Given the description of an element on the screen output the (x, y) to click on. 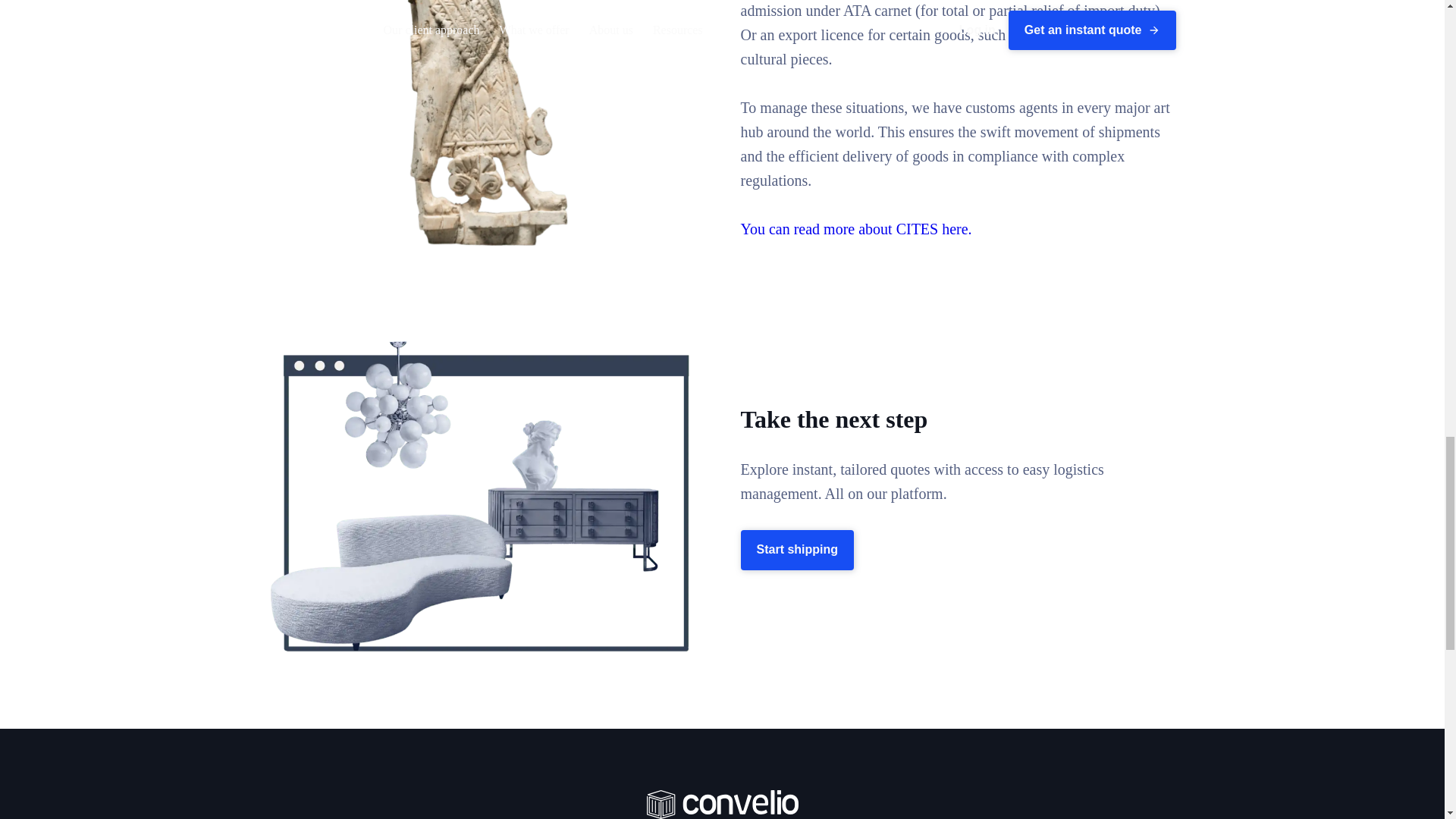
You can read more about CITES here. (855, 228)
more info about CITES (855, 228)
Start shipping (796, 549)
